Given the description of an element on the screen output the (x, y) to click on. 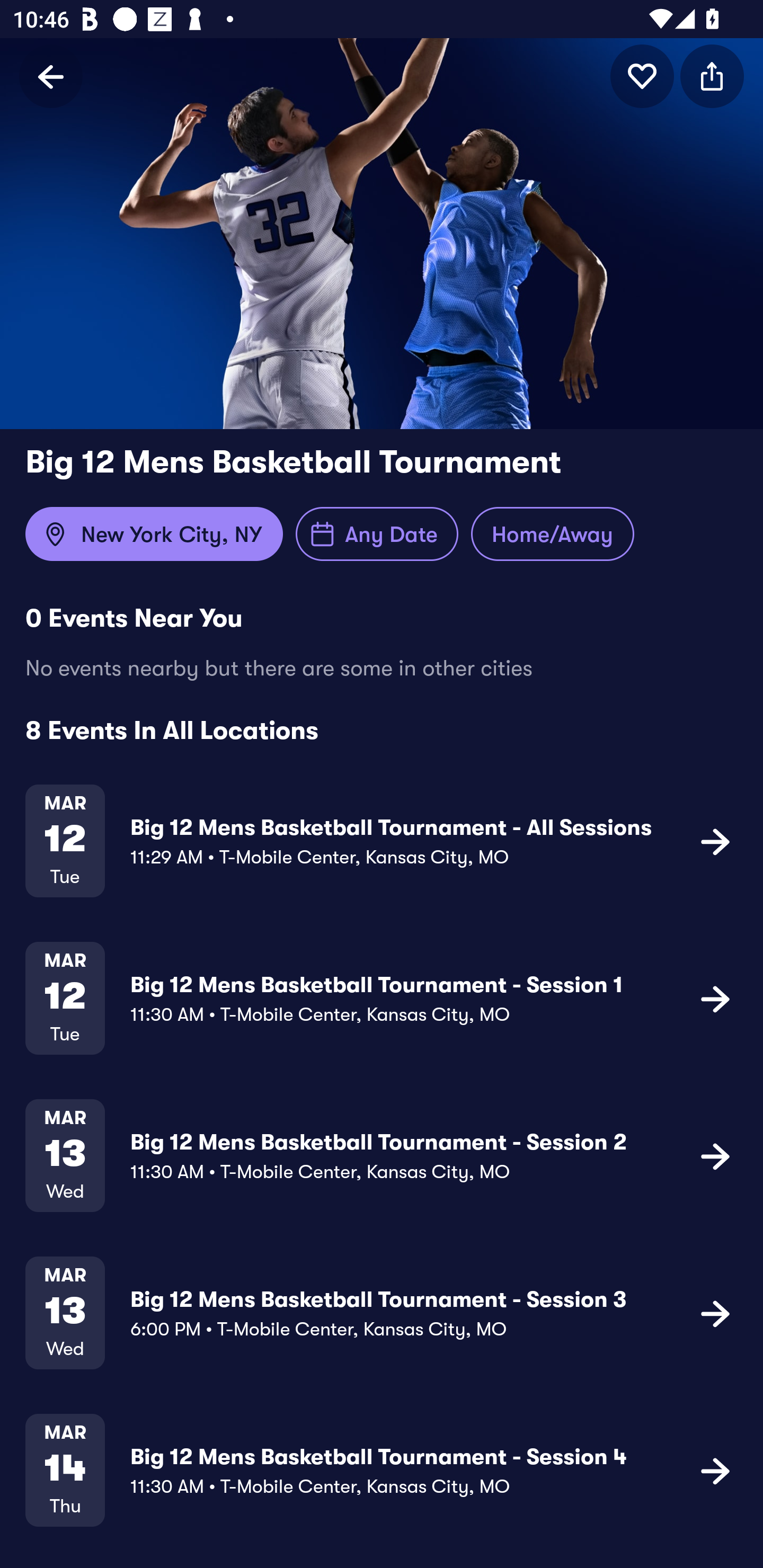
Back (50, 75)
icon button (641, 75)
icon button (711, 75)
New York City, NY (153, 533)
Any Date (377, 533)
Home/Away (552, 533)
icon button (714, 840)
icon button (714, 998)
icon button (714, 1155)
icon button (714, 1312)
icon button (714, 1470)
